Given the description of an element on the screen output the (x, y) to click on. 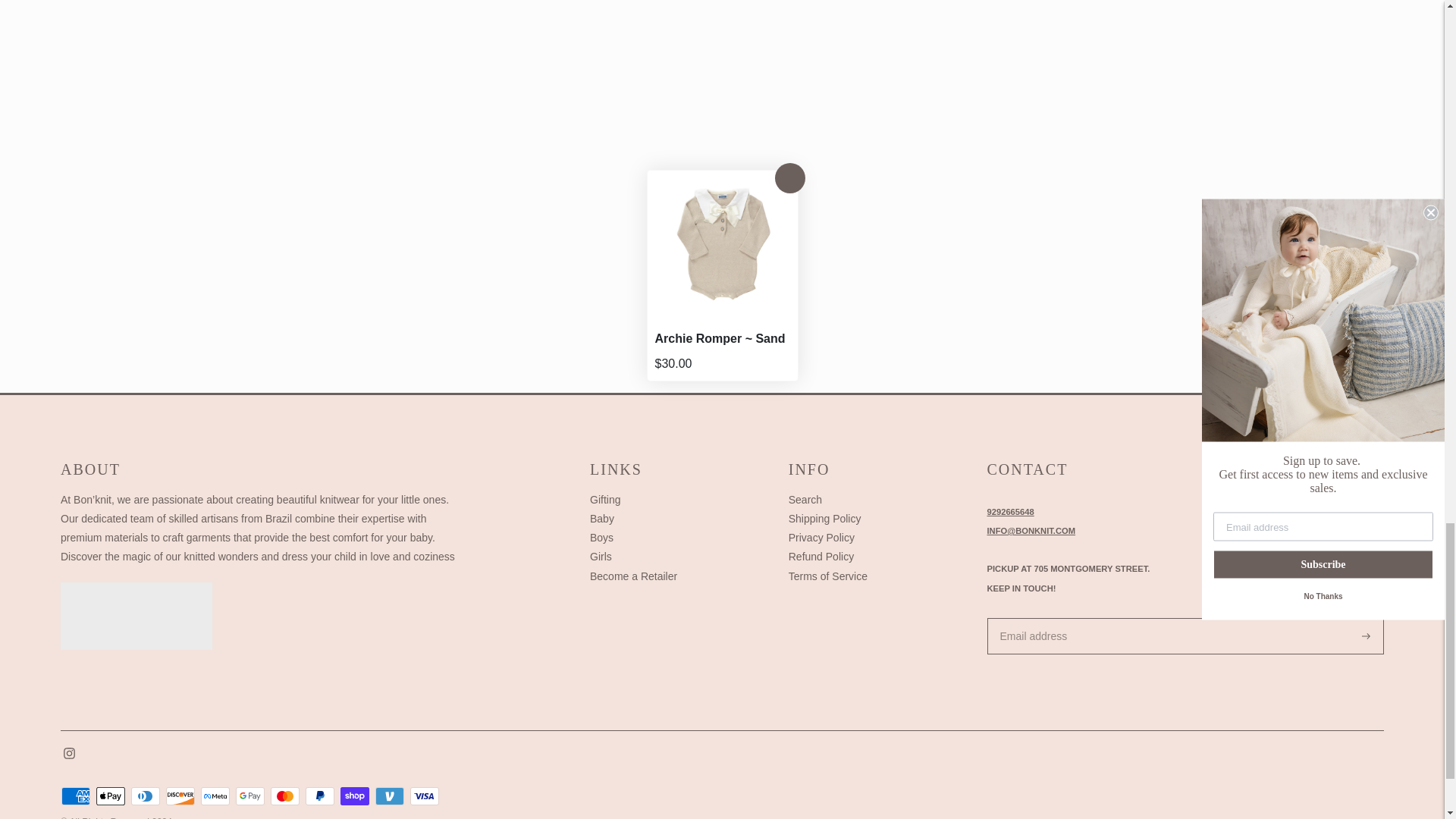
Bon Knit on Instagram (69, 755)
tel:9292665648 (1010, 511)
